Given the description of an element on the screen output the (x, y) to click on. 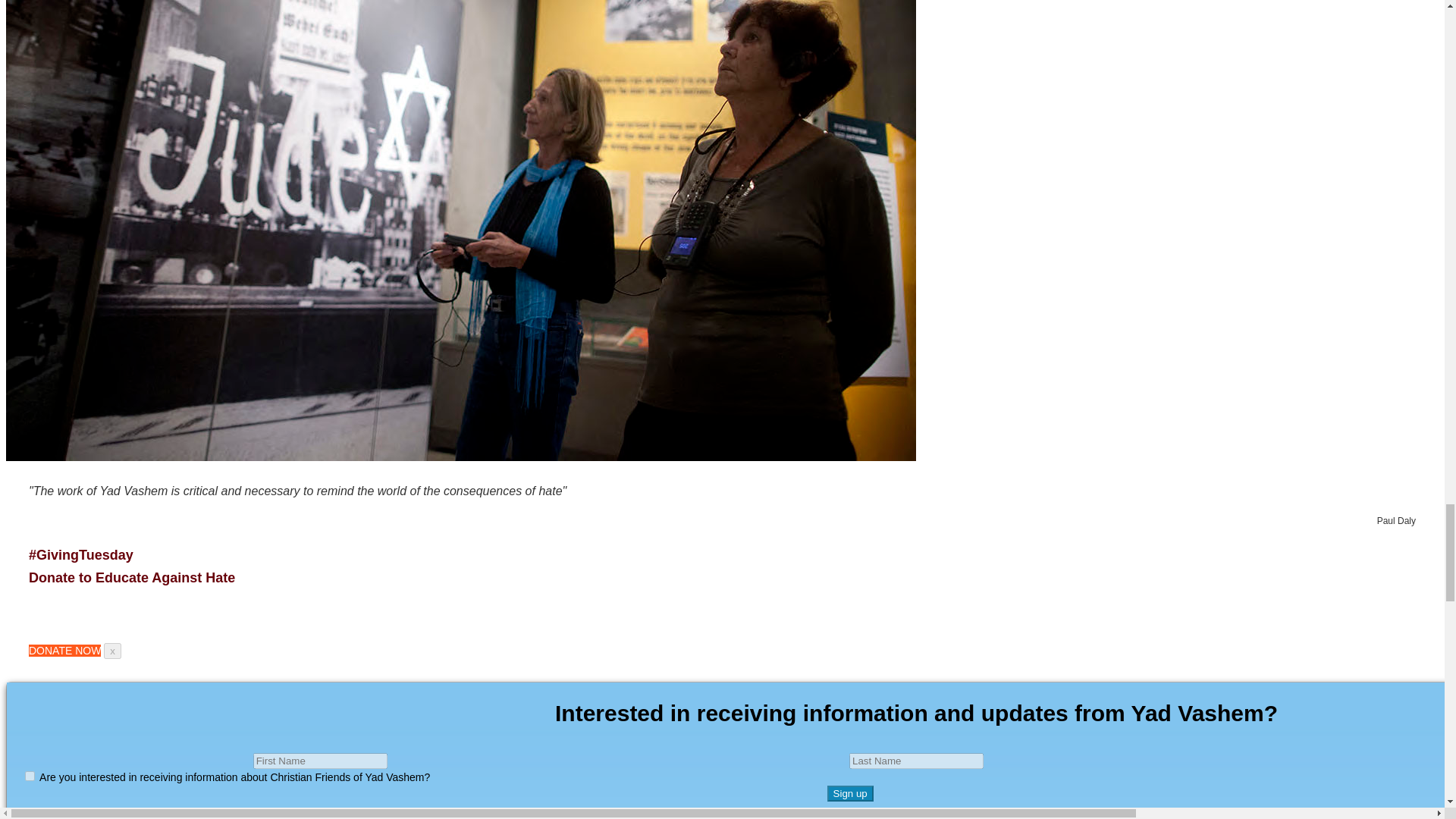
on (29, 776)
